Given the description of an element on the screen output the (x, y) to click on. 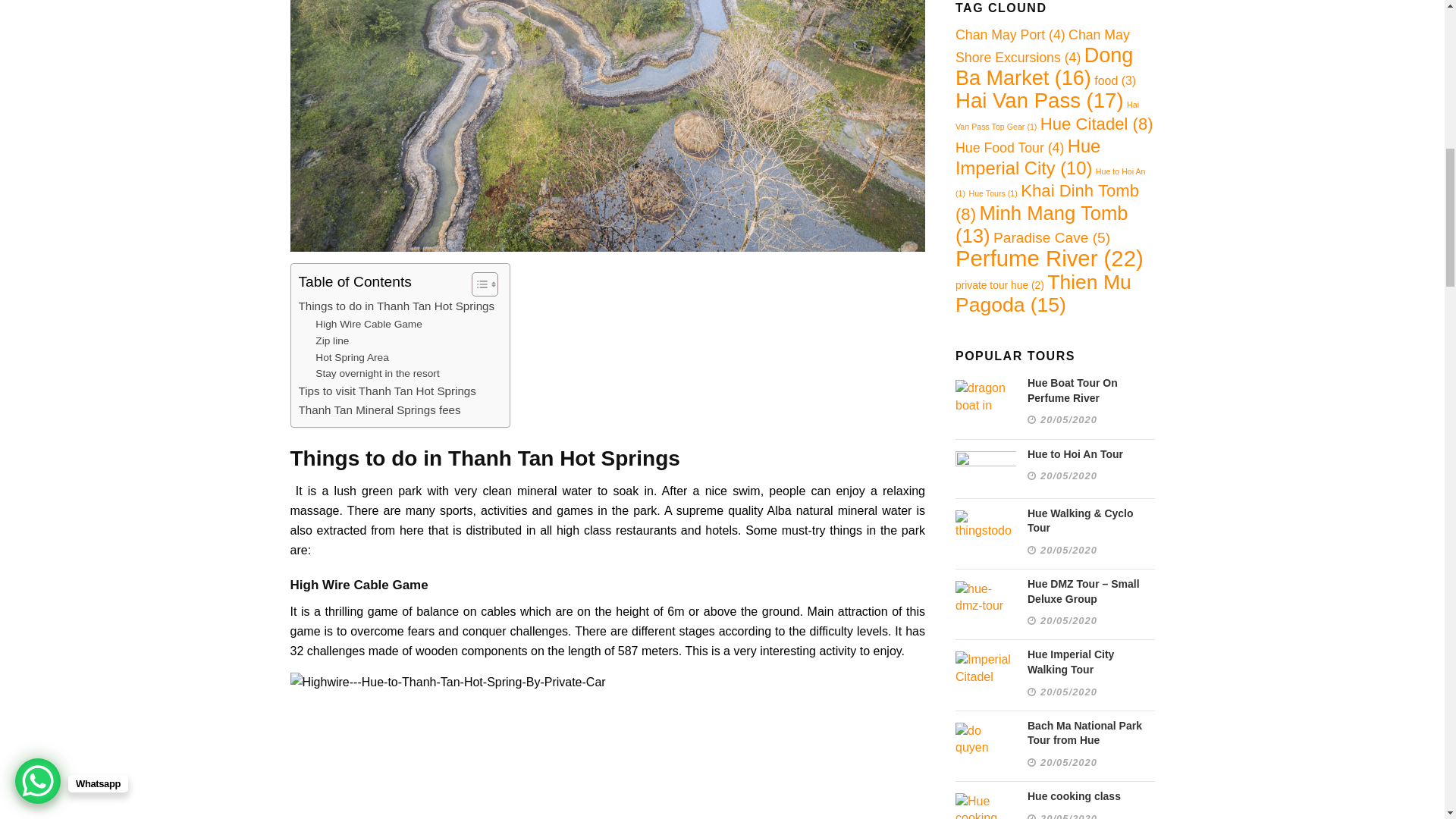
Thanh Tan Mineral Springs fees (379, 410)
High Wire Cable Game (368, 324)
Stay overnight in the resort (377, 373)
Zip line (332, 340)
Tips to visit Thanh Tan Hot Springs (387, 391)
Hot Spring Area (351, 357)
Things to do in Thanh Tan Hot Springs (396, 306)
